Given the description of an element on the screen output the (x, y) to click on. 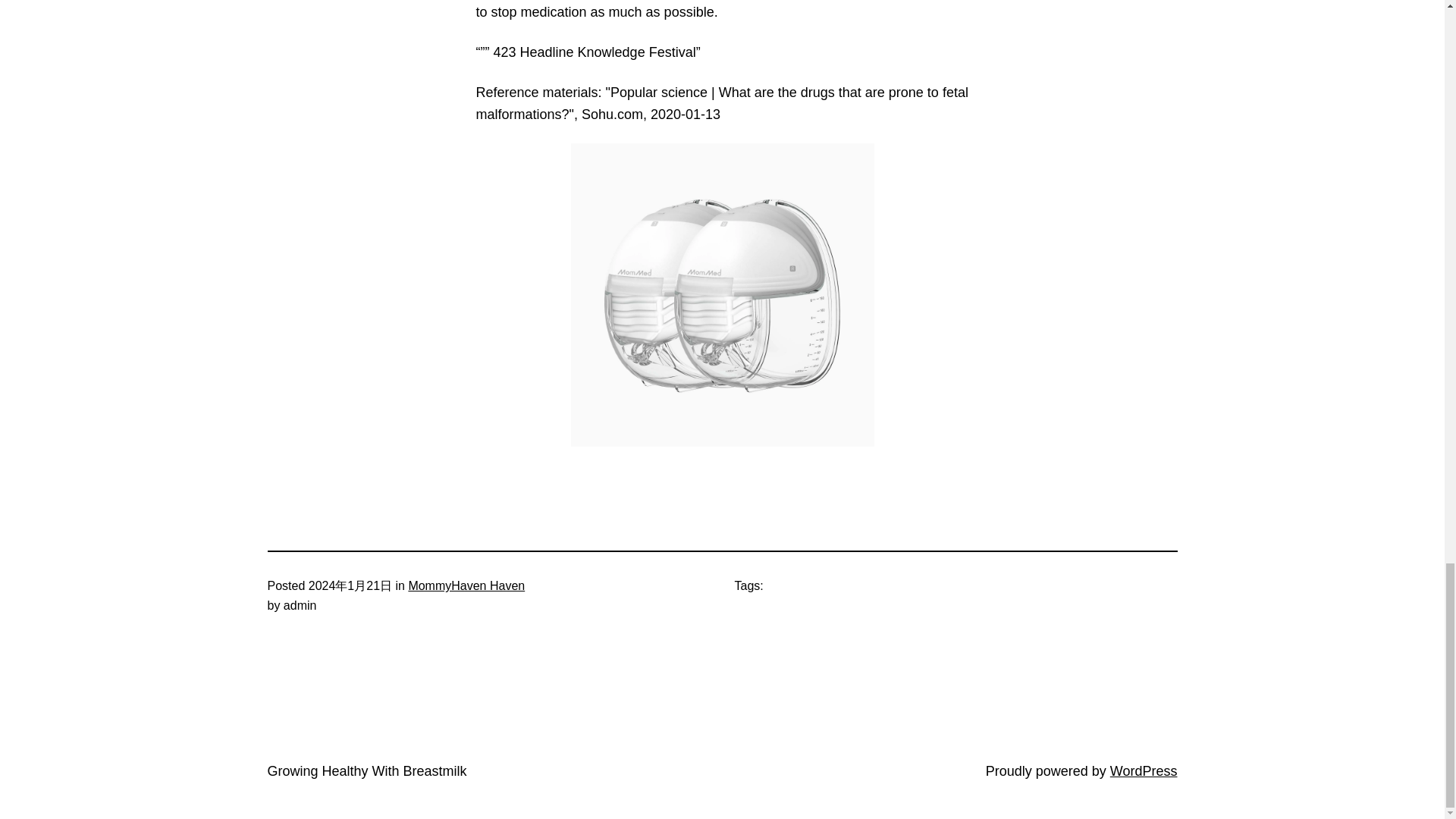
WordPress (1143, 770)
Growing Healthy With Breastmilk (365, 770)
MommyHaven Haven (465, 585)
